Given the description of an element on the screen output the (x, y) to click on. 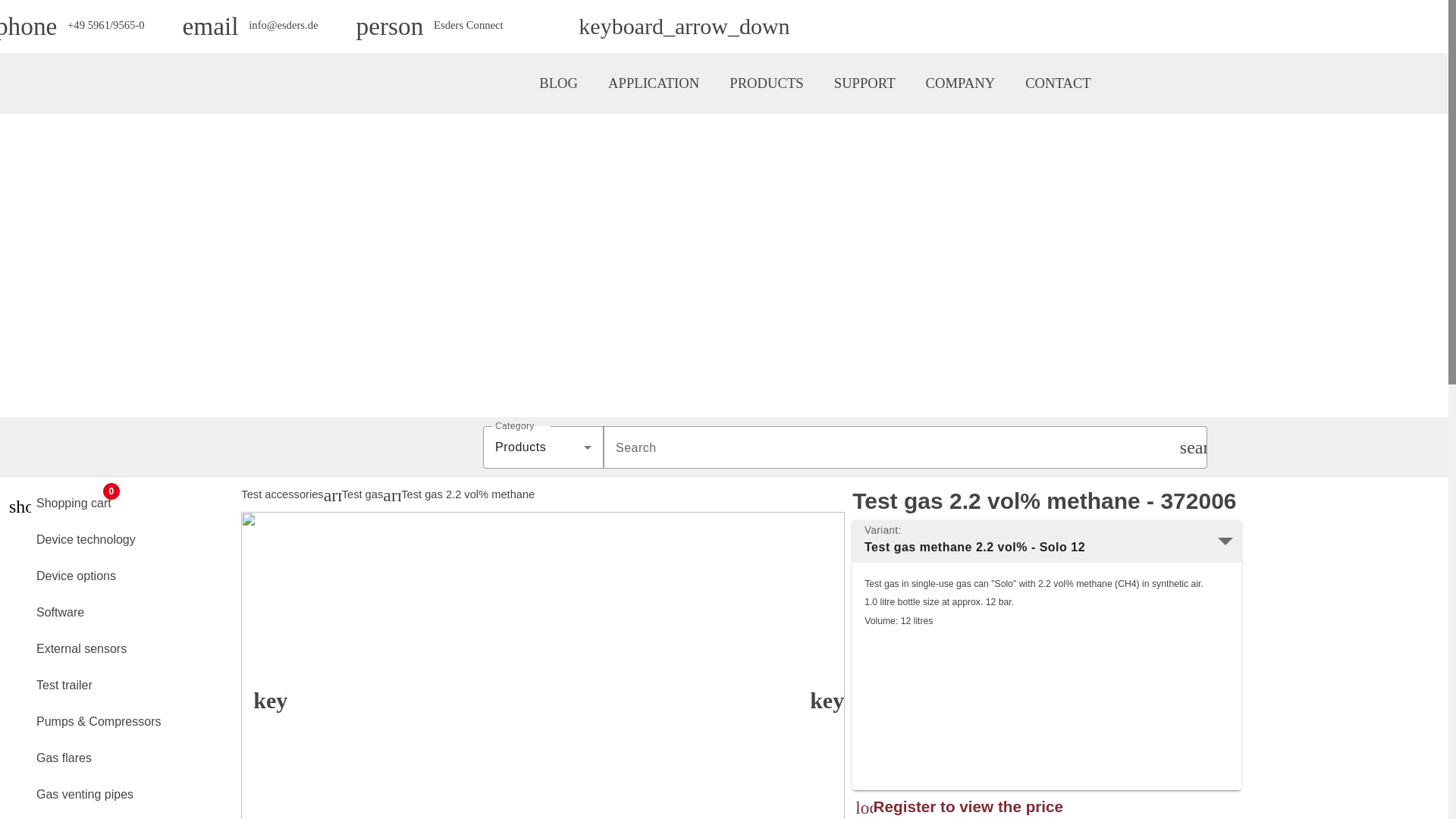
person Esders Connect (429, 25)
